Given the description of an element on the screen output the (x, y) to click on. 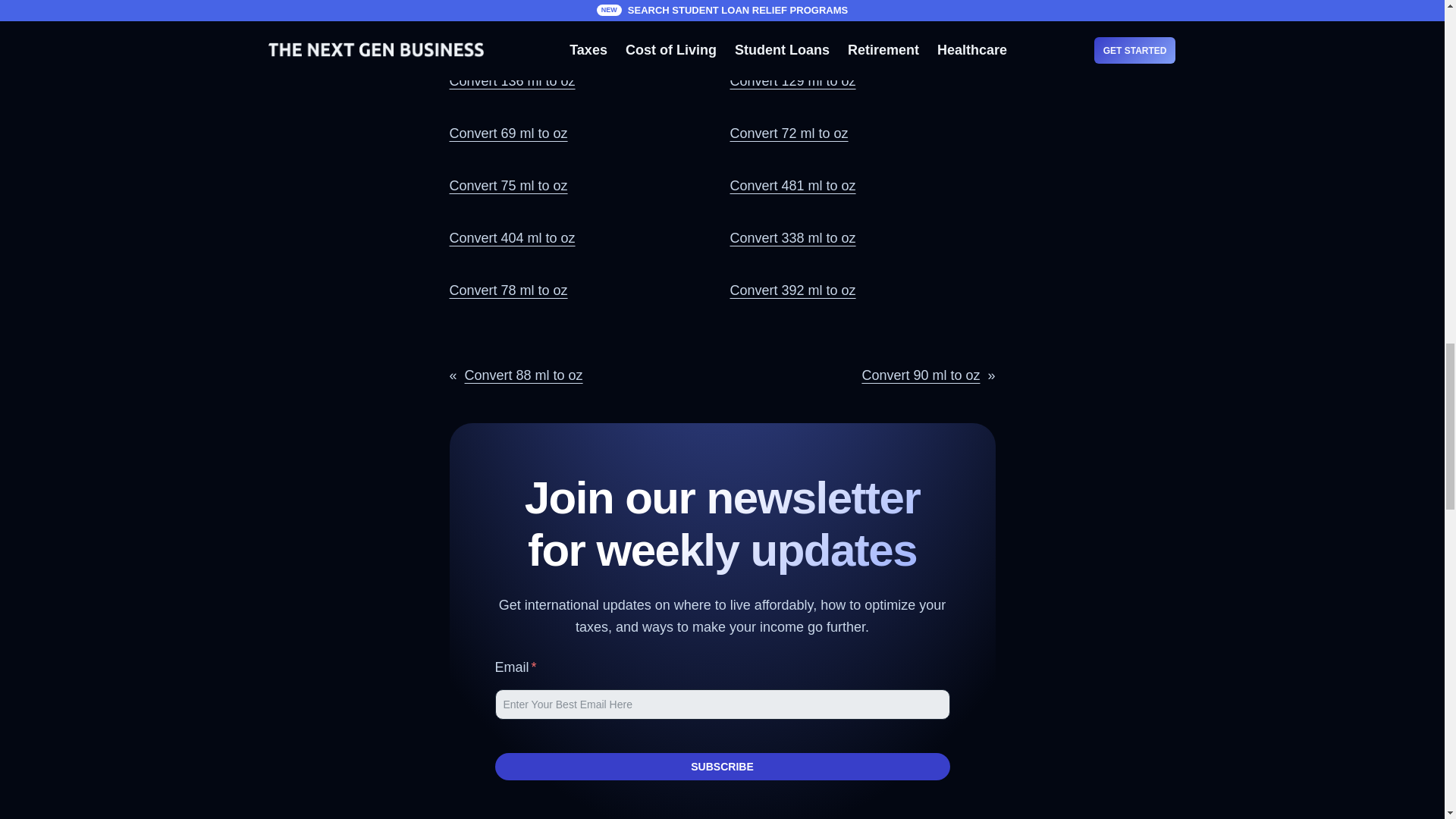
Convert 90 ml to oz (920, 375)
Convert 72 ml to oz (788, 133)
Convert 75 ml to oz (507, 185)
Convert 404 ml to oz (511, 237)
Convert 75 ml to oz (507, 185)
Convert 136 ml to oz (511, 80)
Convert 72 ml to oz (788, 133)
Convert 129 ml to oz (792, 80)
Convert 481 ml to oz (792, 185)
Convert 69 ml to oz (507, 133)
